Given the description of an element on the screen output the (x, y) to click on. 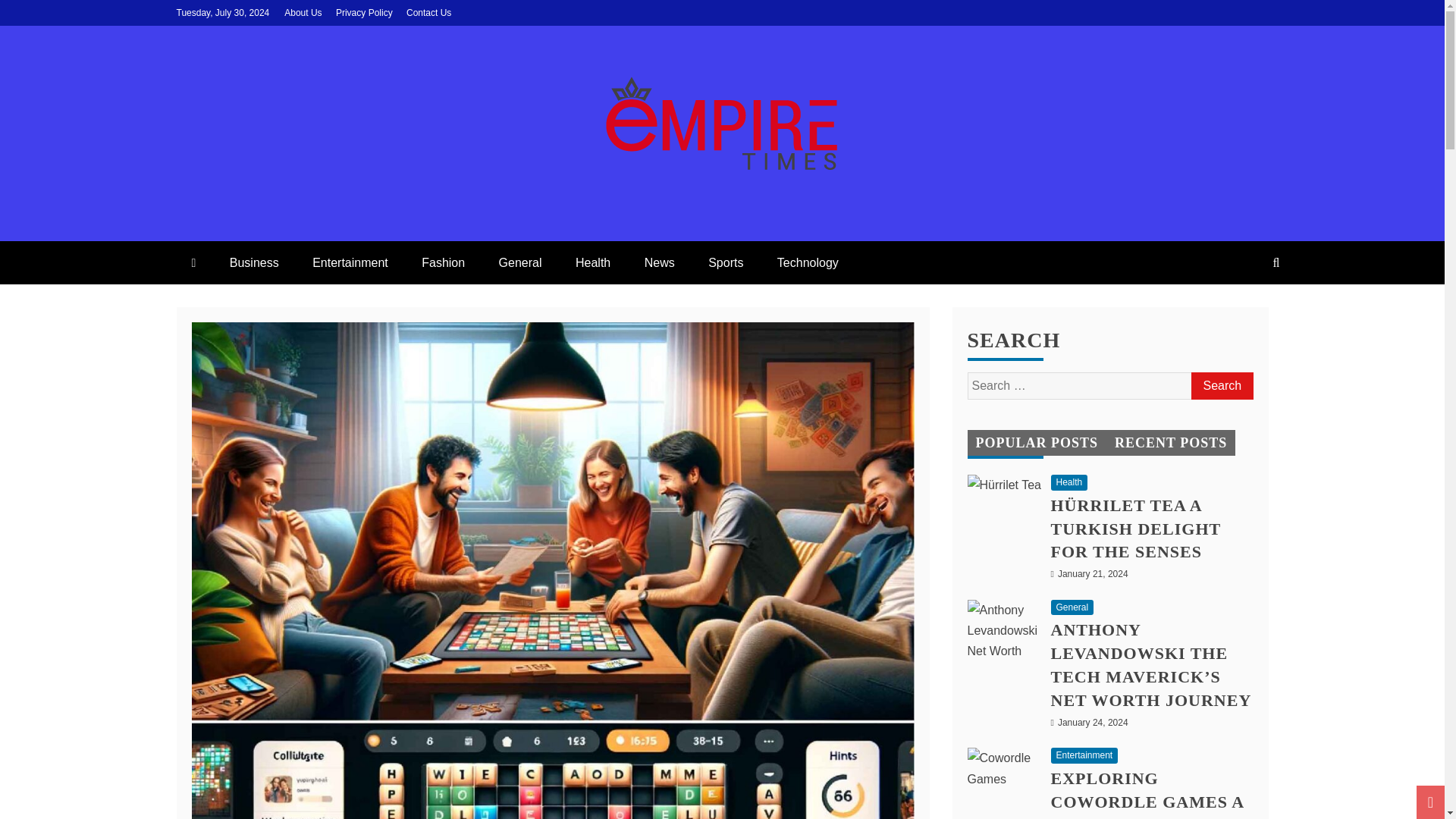
Health (593, 262)
About Us (302, 12)
Search (1221, 385)
Privacy Policy (364, 12)
News (659, 262)
Sports (725, 262)
Entertainment (350, 262)
General (520, 262)
Business (254, 262)
EMPIRE TIMES (321, 225)
Fashion (443, 262)
Technology (807, 262)
Contact Us (428, 12)
Search (1221, 385)
